Given the description of an element on the screen output the (x, y) to click on. 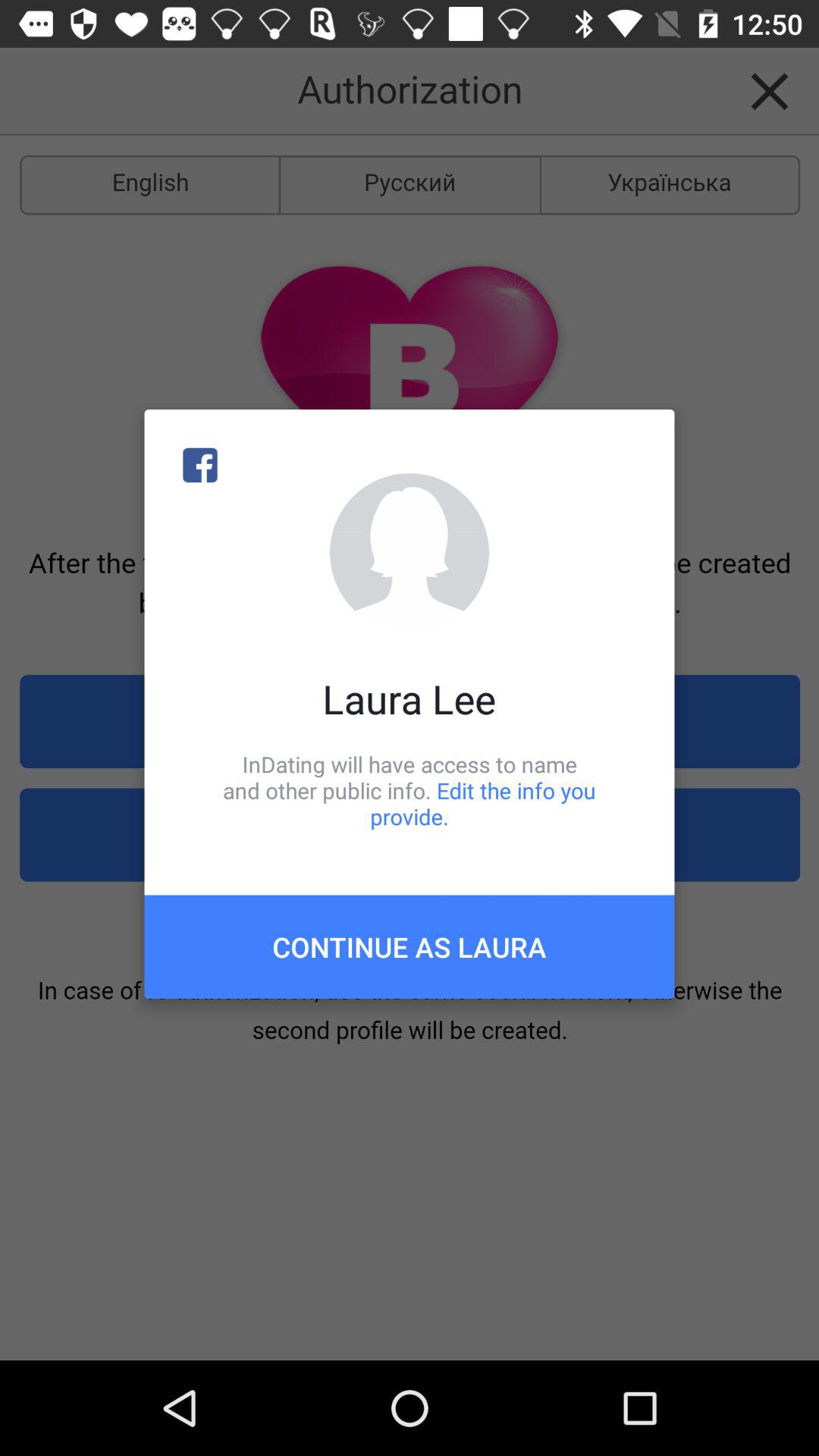
scroll to indating will have item (409, 790)
